Given the description of an element on the screen output the (x, y) to click on. 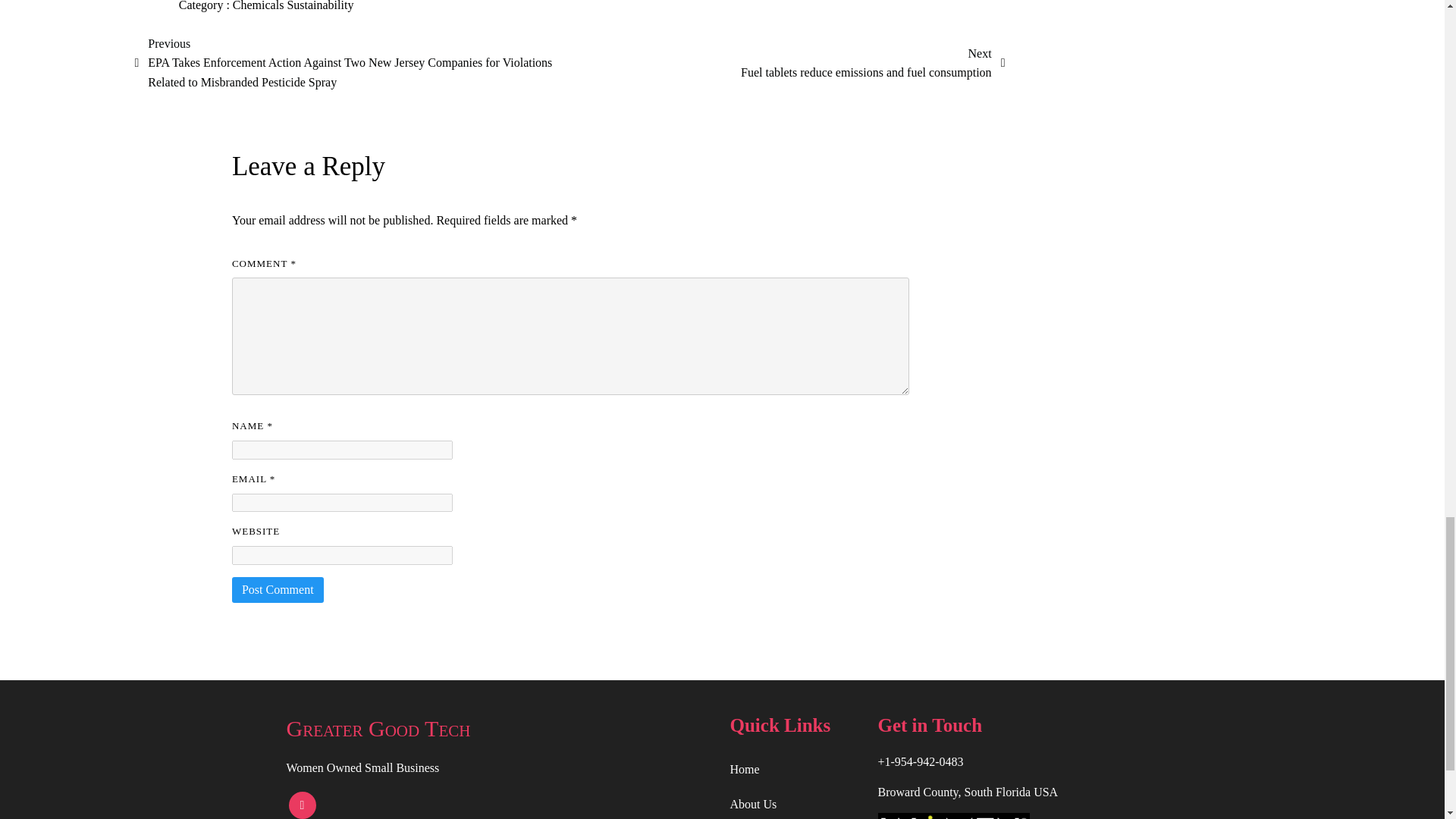
Post Comment (277, 589)
Chemicals (259, 5)
Post Comment (277, 589)
Sustainability (319, 5)
